Given the description of an element on the screen output the (x, y) to click on. 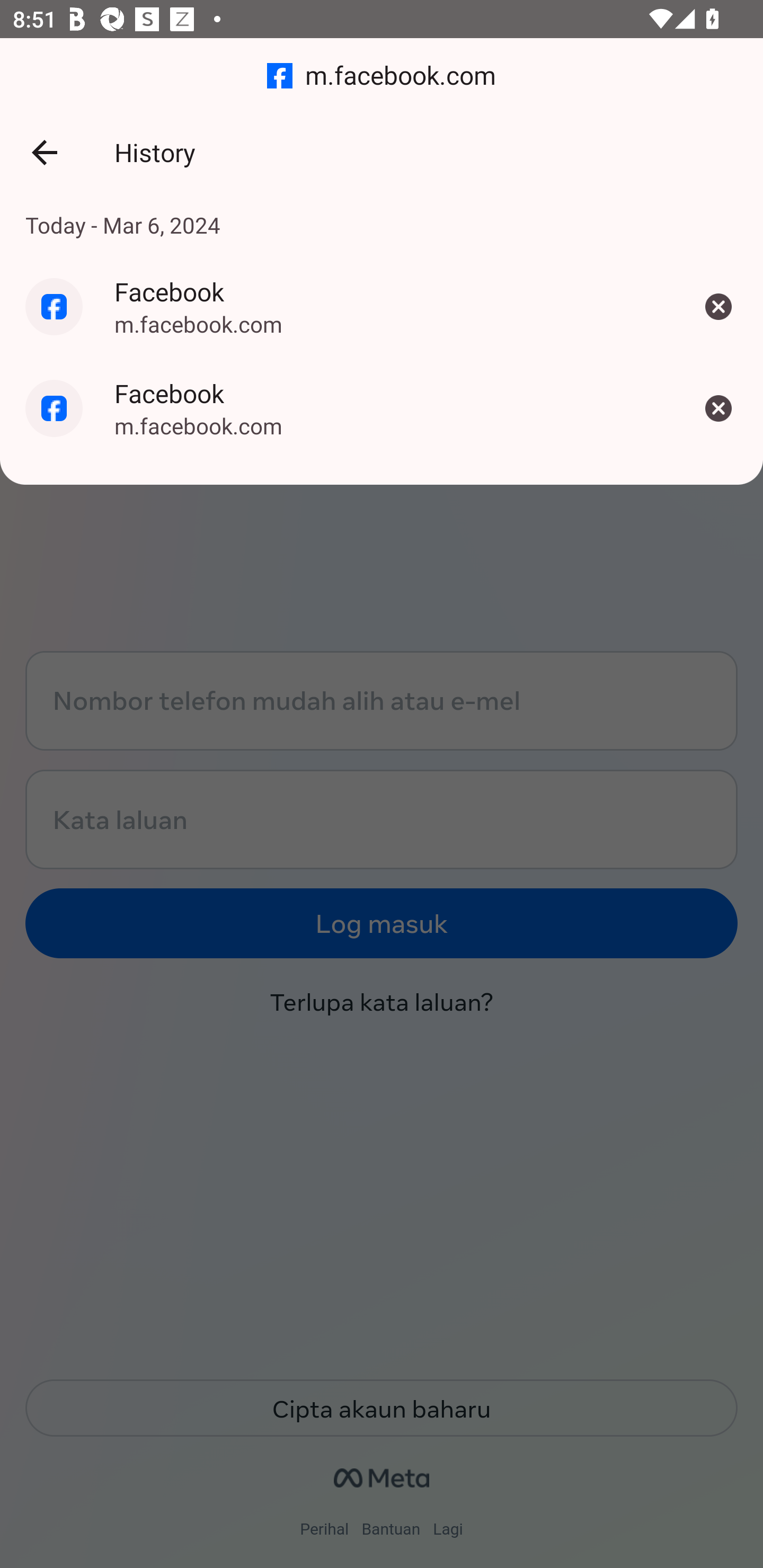
m.facebook.com (381, 75)
Back (44, 152)
Facebook m.facebook.com Facebook Remove (381, 306)
Facebook Remove (718, 306)
Facebook m.facebook.com Facebook Remove (381, 408)
Facebook Remove (718, 408)
